Given the description of an element on the screen output the (x, y) to click on. 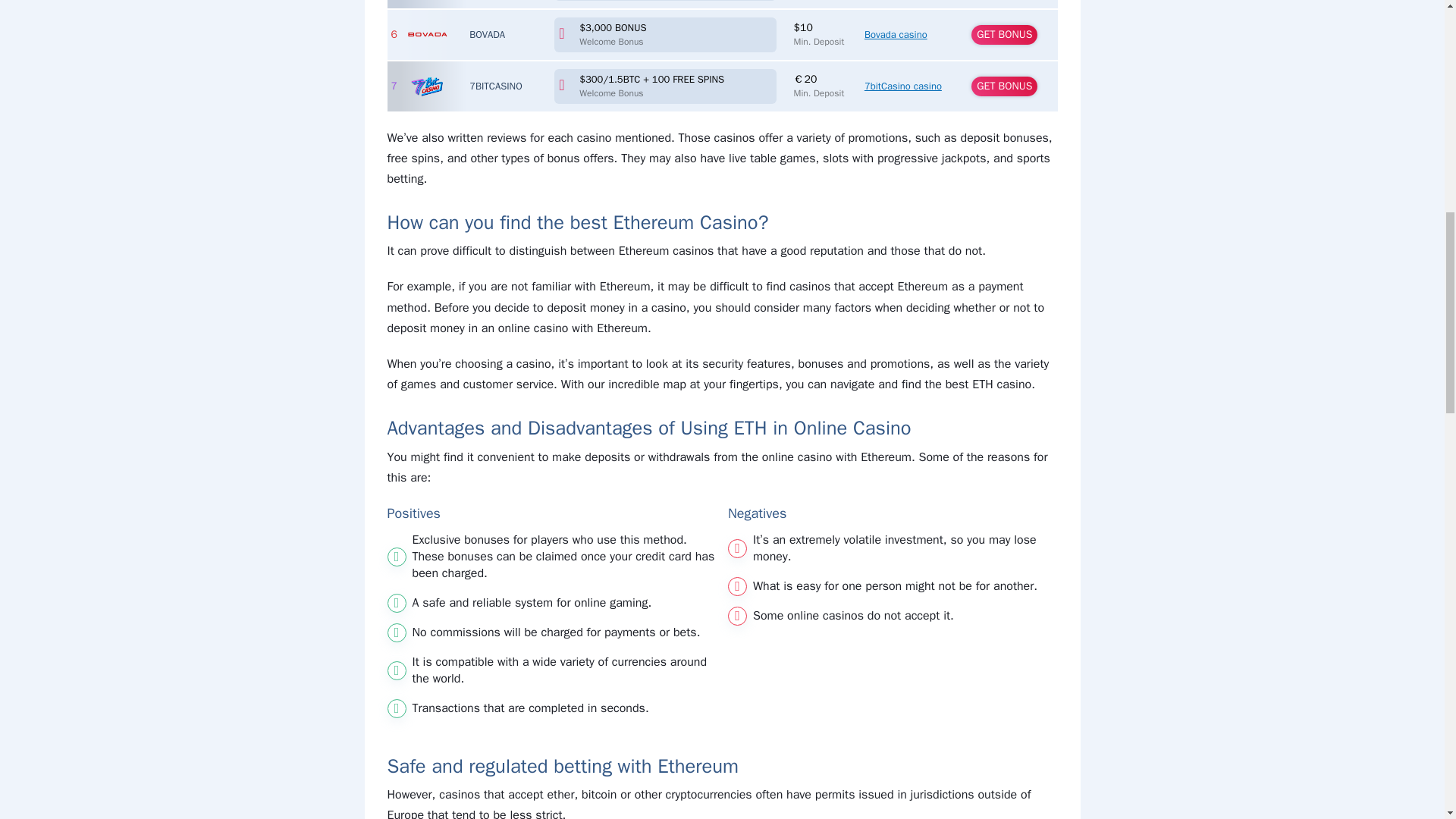
Bovada (486, 33)
Bovada casino (426, 34)
7bitCasino (495, 85)
7bitCasino casino (426, 86)
